Given the description of an element on the screen output the (x, y) to click on. 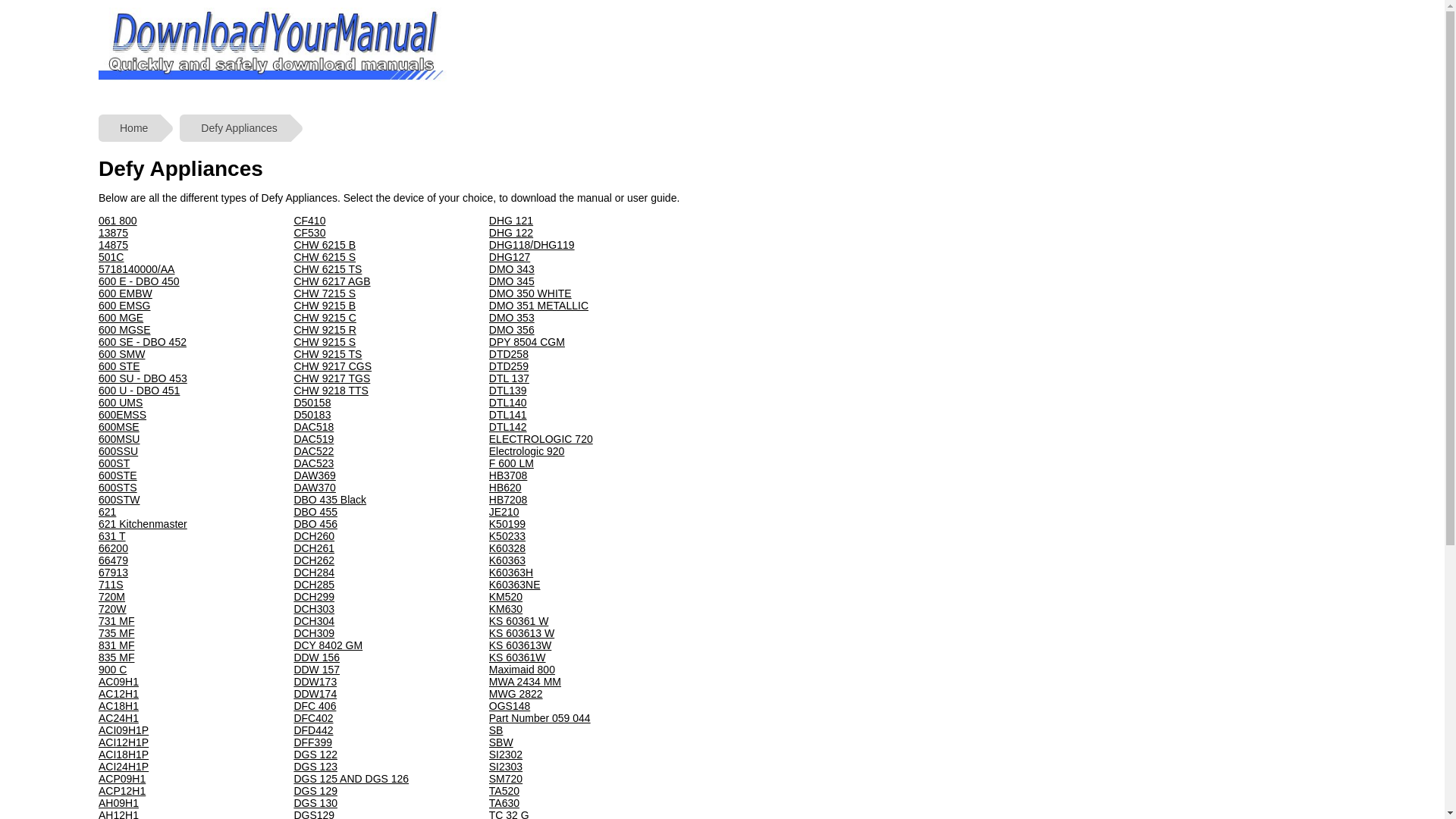
DDW 157 Element type: text (316, 669)
600 EMBW Element type: text (125, 293)
731 MF Element type: text (116, 621)
DGS 123 Element type: text (315, 766)
600STS Element type: text (117, 487)
DHG118/DHG119 Element type: text (531, 244)
DMO 350 WHITE Element type: text (530, 293)
DAC519 Element type: text (313, 439)
AC12H1 Element type: text (118, 693)
ACI12H1P Element type: text (123, 742)
5718140000/AA Element type: text (136, 269)
CHW 6217 AGB Element type: text (331, 281)
66479 Element type: text (113, 560)
HB3708 Element type: text (508, 475)
DPY 8504 CGM Element type: text (526, 341)
DCH309 Element type: text (313, 633)
DHG 121 Element type: text (511, 220)
KM630 Element type: text (505, 608)
DFC402 Element type: text (312, 718)
621 Element type: text (107, 511)
KM520 Element type: text (505, 596)
DAC518 Element type: text (313, 426)
KS 603613W Element type: text (520, 645)
DGS 130 Element type: text (315, 803)
AH09H1 Element type: text (118, 803)
621 Kitchenmaster Element type: text (142, 523)
CHW 6215 TS Element type: text (327, 269)
DBO 456 Element type: text (315, 523)
SM720 Element type: text (505, 778)
ACI24H1P Element type: text (123, 766)
600 MGSE Element type: text (124, 329)
67913 Element type: text (113, 572)
K50233 Element type: text (507, 536)
DMO 356 Element type: text (511, 329)
DAW369 Element type: text (314, 475)
DAC522 Element type: text (313, 451)
DFC 406 Element type: text (314, 705)
DDW174 Element type: text (314, 693)
600 SU - DBO 453 Element type: text (142, 378)
DMO 343 Element type: text (511, 269)
DCH299 Element type: text (313, 596)
DTD259 Element type: text (508, 366)
ACP12H1 Element type: text (121, 790)
501C Element type: text (110, 257)
ELECTROLOGIC 720 Element type: text (541, 439)
DMO 353 Element type: text (511, 317)
600 EMSG Element type: text (124, 305)
Part Number 059 044 Element type: text (539, 718)
DTL 137 Element type: text (509, 378)
CHW 9217 TGS Element type: text (331, 378)
K60328 Element type: text (507, 548)
ACI09H1P Element type: text (123, 730)
600 E - DBO 450 Element type: text (138, 281)
K50199 Element type: text (507, 523)
600MSU Element type: text (118, 439)
DAC523 Element type: text (313, 463)
66200 Element type: text (113, 548)
TA630 Element type: text (504, 803)
CF410 Element type: text (309, 220)
DGS 125 AND DGS 126 Element type: text (350, 778)
MWG 2822 Element type: text (515, 693)
TA520 Element type: text (504, 790)
DCH262 Element type: text (313, 560)
KS 60361W Element type: text (517, 657)
720W Element type: text (112, 608)
DBO 435 Black Element type: text (329, 499)
600ST Element type: text (113, 463)
SI2303 Element type: text (505, 766)
DCH261 Element type: text (313, 548)
HB620 Element type: text (505, 487)
SB Element type: text (496, 730)
600 U - DBO 451 Element type: text (138, 390)
DCH304 Element type: text (313, 621)
DTL141 Element type: text (508, 414)
DTL142 Element type: text (508, 426)
711S Element type: text (110, 584)
DFD442 Element type: text (312, 730)
HB7208 Element type: text (508, 499)
600EMSS Element type: text (122, 414)
600STW Element type: text (118, 499)
13875 Element type: text (113, 232)
DTL140 Element type: text (508, 402)
Maximaid 800 Element type: text (522, 669)
CHW 6215 S Element type: text (324, 257)
K60363H Element type: text (511, 572)
CHW 7215 S Element type: text (324, 293)
MWA 2434 MM Element type: text (525, 681)
AC24H1 Element type: text (118, 718)
835 MF Element type: text (116, 657)
CF530 Element type: text (309, 232)
CHW 9215 TS Element type: text (327, 354)
DMO 351 METALLIC Element type: text (538, 305)
600 MGE Element type: text (120, 317)
DCH285 Element type: text (313, 584)
DMO 345 Element type: text (511, 281)
KS 60361 W Element type: text (519, 621)
DFF399 Element type: text (312, 742)
720M Element type: text (111, 596)
DTD258 Element type: text (508, 354)
CHW 9215 S Element type: text (324, 341)
SBW Element type: text (501, 742)
631 T Element type: text (111, 536)
D50183 Element type: text (311, 414)
600 STE Element type: text (118, 366)
DCY 8402 GM Element type: text (327, 645)
DBO 455 Element type: text (315, 511)
DHG 122 Element type: text (511, 232)
DAW370 Element type: text (314, 487)
900 C Element type: text (112, 669)
CHW 9217 CGS Element type: text (332, 366)
CHW 9215 B Element type: text (324, 305)
SI2302 Element type: text (505, 754)
DDW173 Element type: text (314, 681)
14875 Element type: text (113, 244)
ACI18H1P Element type: text (123, 754)
DCH303 Element type: text (313, 608)
600 UMS Element type: text (120, 402)
Electrologic 920 Element type: text (526, 451)
CHW 9218 TTS Element type: text (330, 390)
DGS 122 Element type: text (315, 754)
600MSE Element type: text (118, 426)
600STE Element type: text (117, 475)
DTL139 Element type: text (508, 390)
DGS 129 Element type: text (315, 790)
AC18H1 Element type: text (118, 705)
DCH260 Element type: text (313, 536)
831 MF Element type: text (116, 645)
AC09H1 Element type: text (118, 681)
K60363 Element type: text (507, 560)
F 600 LM Element type: text (511, 463)
600 SMW Element type: text (121, 354)
Download your manual homepage: Free user guides! Element type: hover (275, 81)
DCH284 Element type: text (313, 572)
ACP09H1 Element type: text (121, 778)
D50158 Element type: text (311, 402)
CHW 9215 C Element type: text (324, 317)
DDW 156 Element type: text (316, 657)
DHG127 Element type: text (509, 257)
K60363NE Element type: text (514, 584)
KS 603613 W Element type: text (521, 633)
JE210 Element type: text (504, 511)
600SSU Element type: text (118, 451)
OGS148 Element type: text (509, 705)
600 SE - DBO 452 Element type: text (142, 341)
CHW 9215 R Element type: text (324, 329)
Download your manual homepage: Free user guides! Element type: hover (275, 45)
CHW 6215 B Element type: text (324, 244)
735 MF Element type: text (116, 633)
Home Element type: text (128, 127)
Defy Appliances Element type: text (233, 127)
061 800 Element type: text (117, 220)
